Given the description of an element on the screen output the (x, y) to click on. 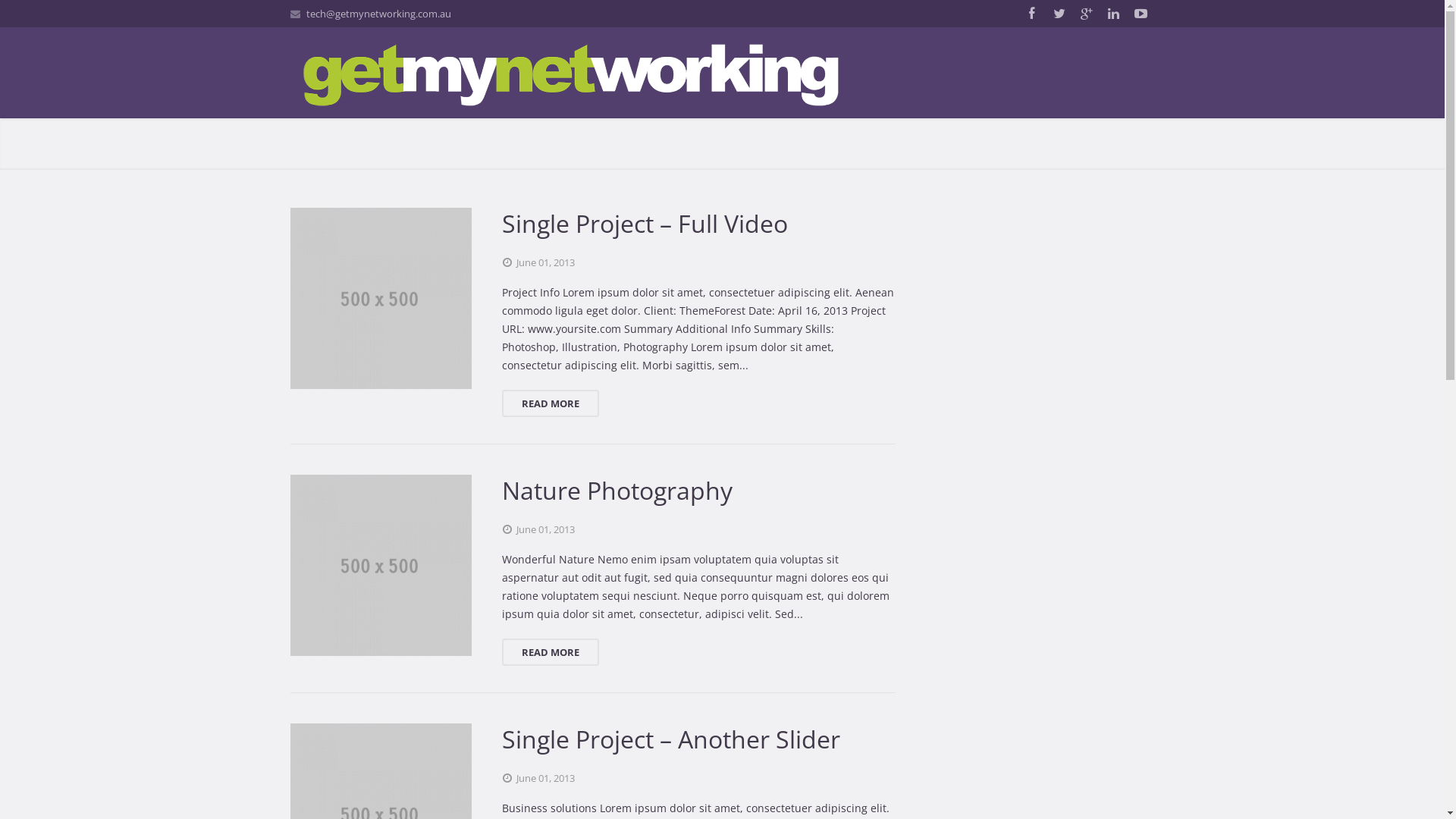
READ MORE Element type: text (550, 403)
Nature Photography Element type: text (591, 490)
READ MORE Element type: text (550, 651)
tech@getmynetworking.com.au Element type: text (378, 13)
